Given the description of an element on the screen output the (x, y) to click on. 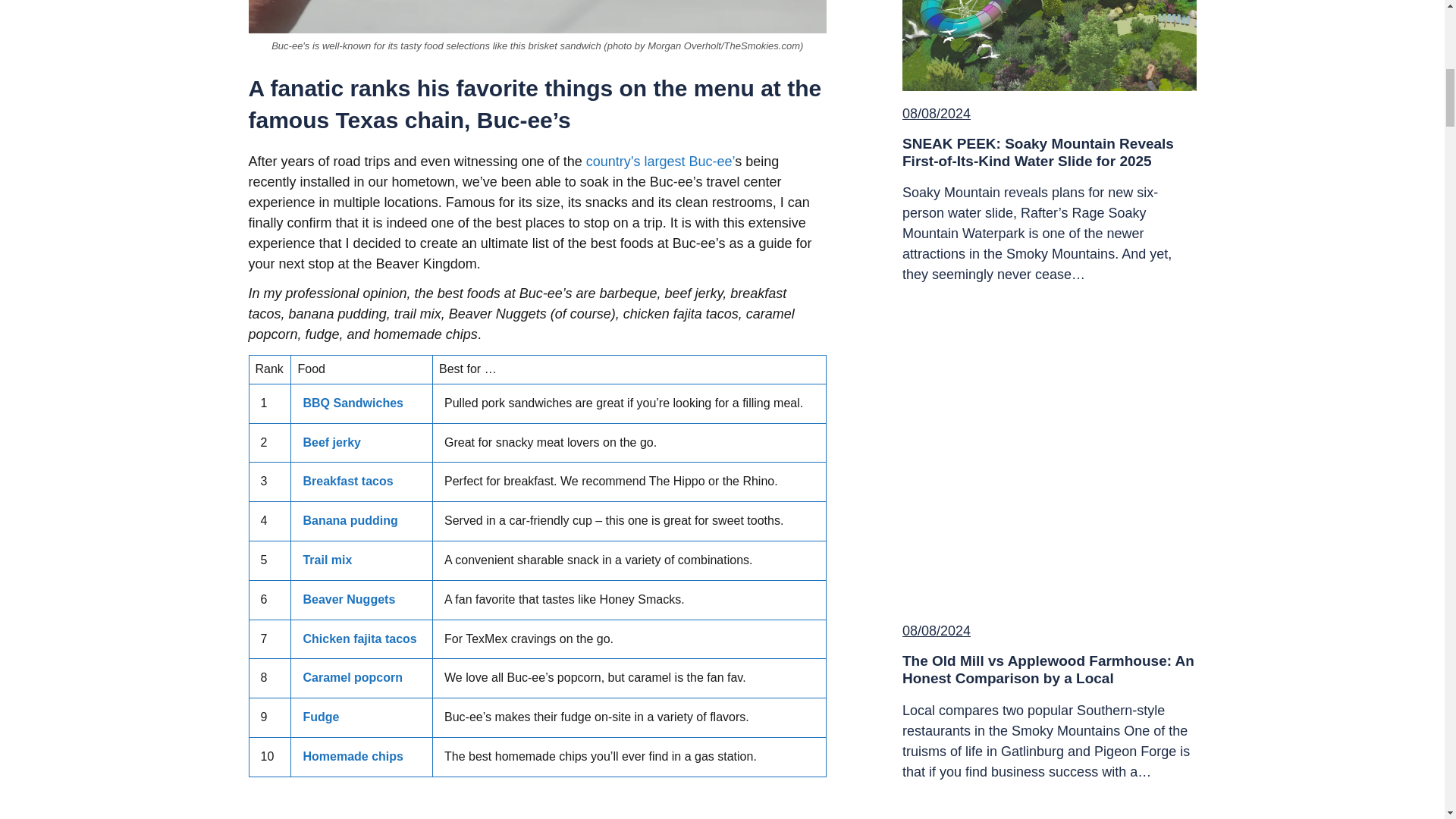
4:38 pm (936, 630)
Beaver Nuggets (348, 599)
Beef jerky (331, 441)
Trail mix (327, 559)
Chicken fajita tacos (359, 638)
Scroll back to top (1406, 666)
BBQ Sandwiches (352, 402)
5:32 pm (936, 113)
